Given the description of an element on the screen output the (x, y) to click on. 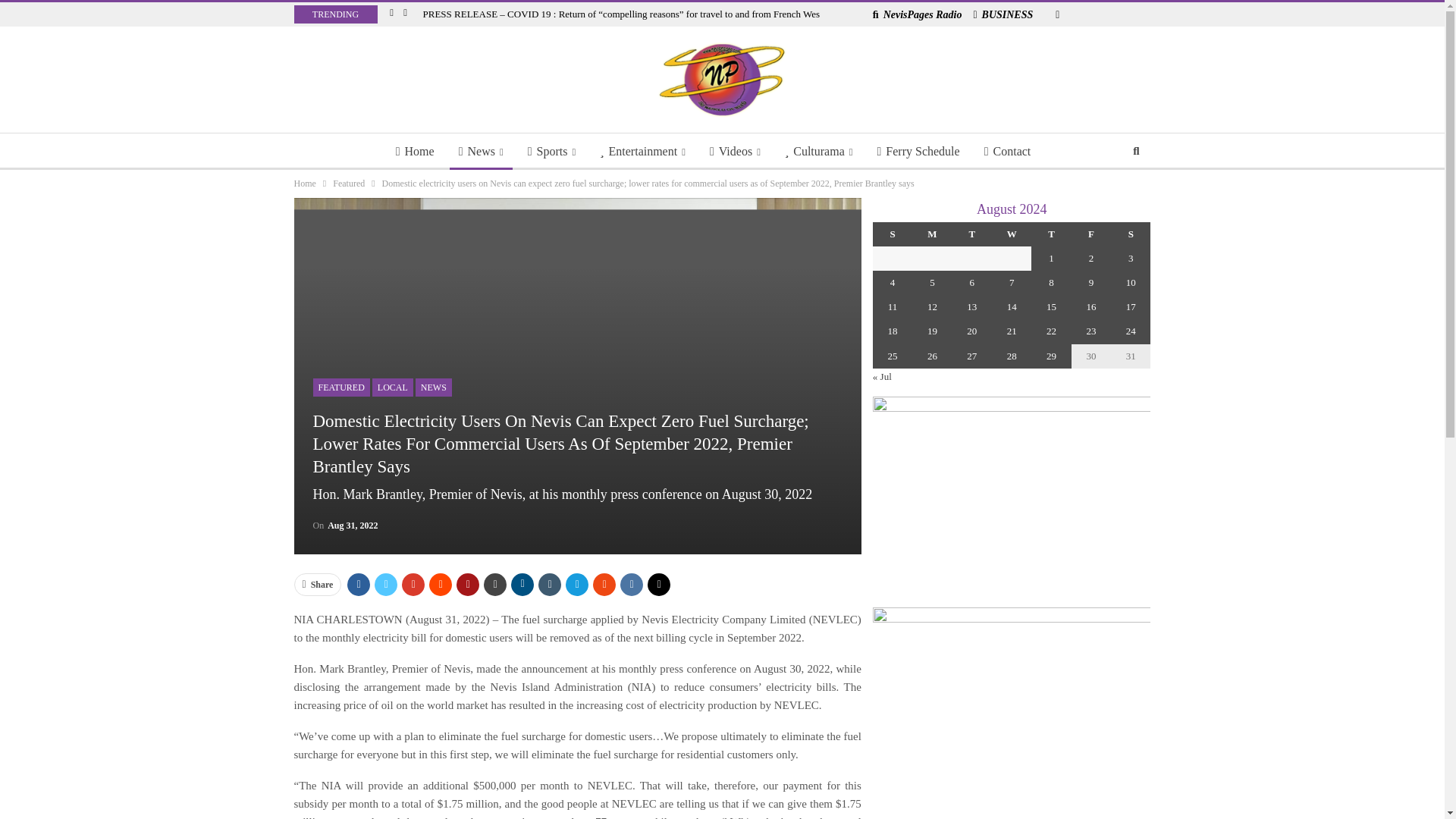
NevisPages Radio (917, 14)
BUSINESS (1002, 14)
News (480, 151)
Home (415, 151)
